Given the description of an element on the screen output the (x, y) to click on. 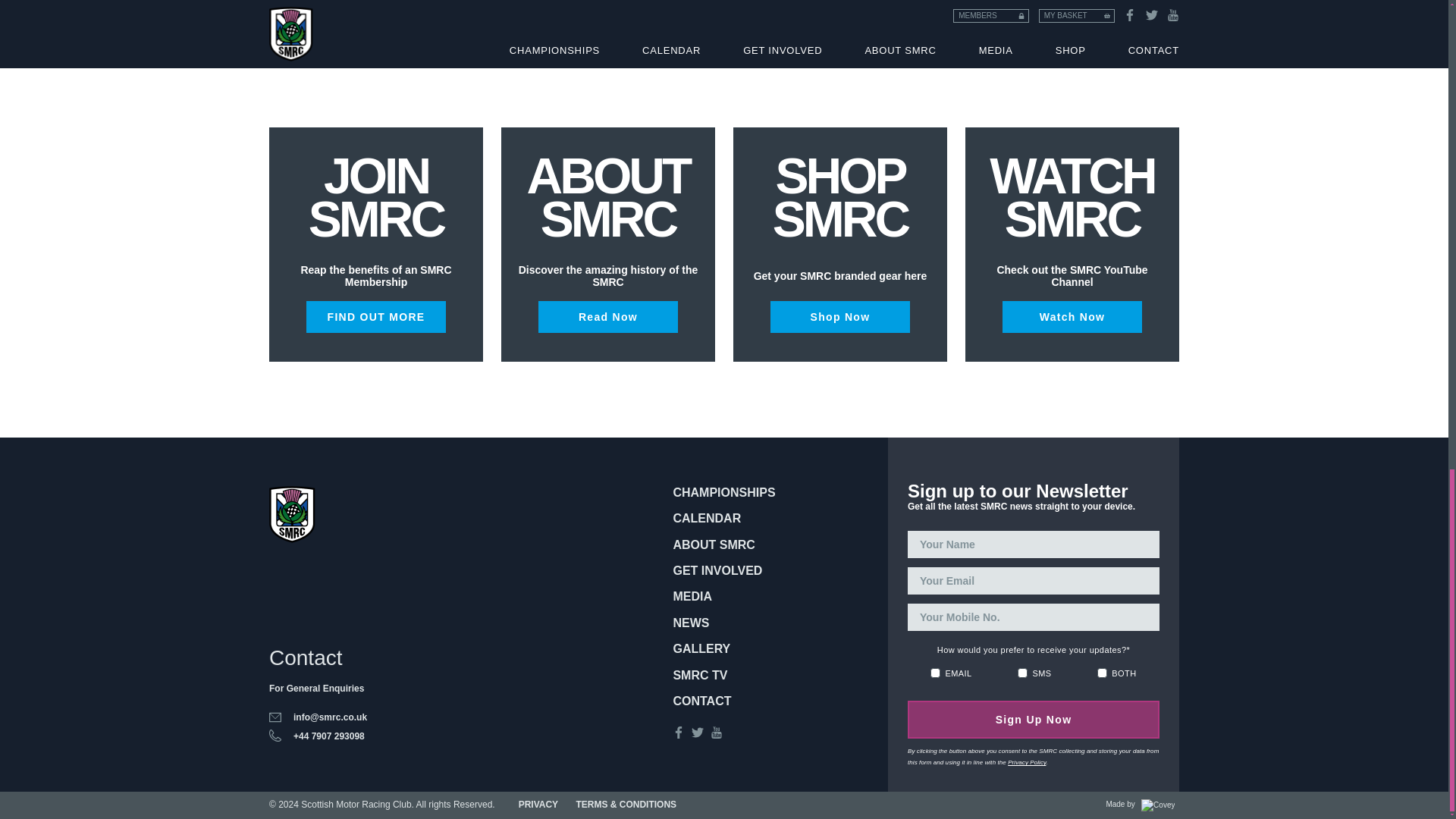
Sign Up Now (1032, 719)
